Given the description of an element on the screen output the (x, y) to click on. 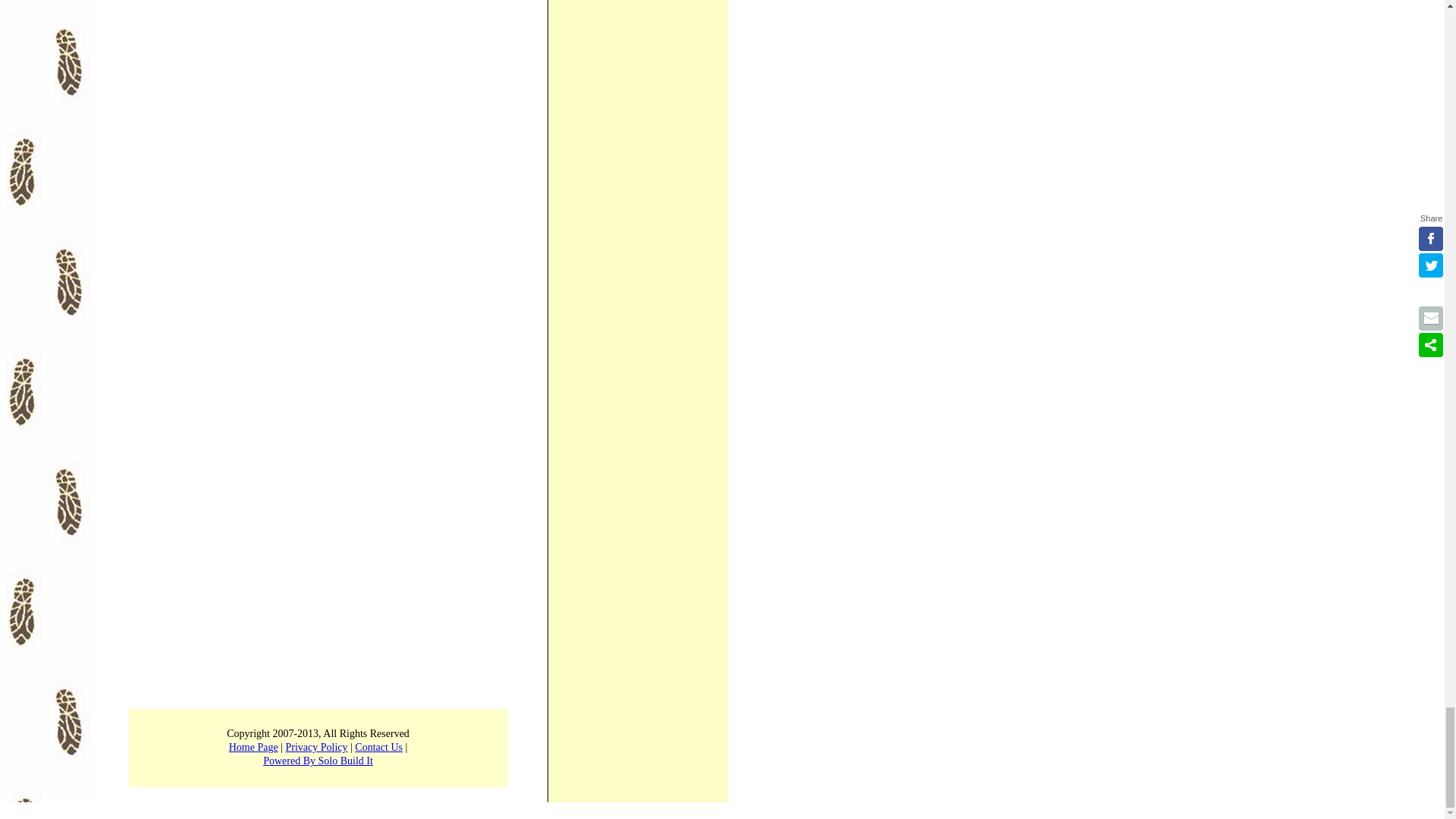
Home Page (253, 747)
Contact Us (379, 747)
Privacy Policy (316, 747)
Powered By Solo Build It (317, 760)
